Given the description of an element on the screen output the (x, y) to click on. 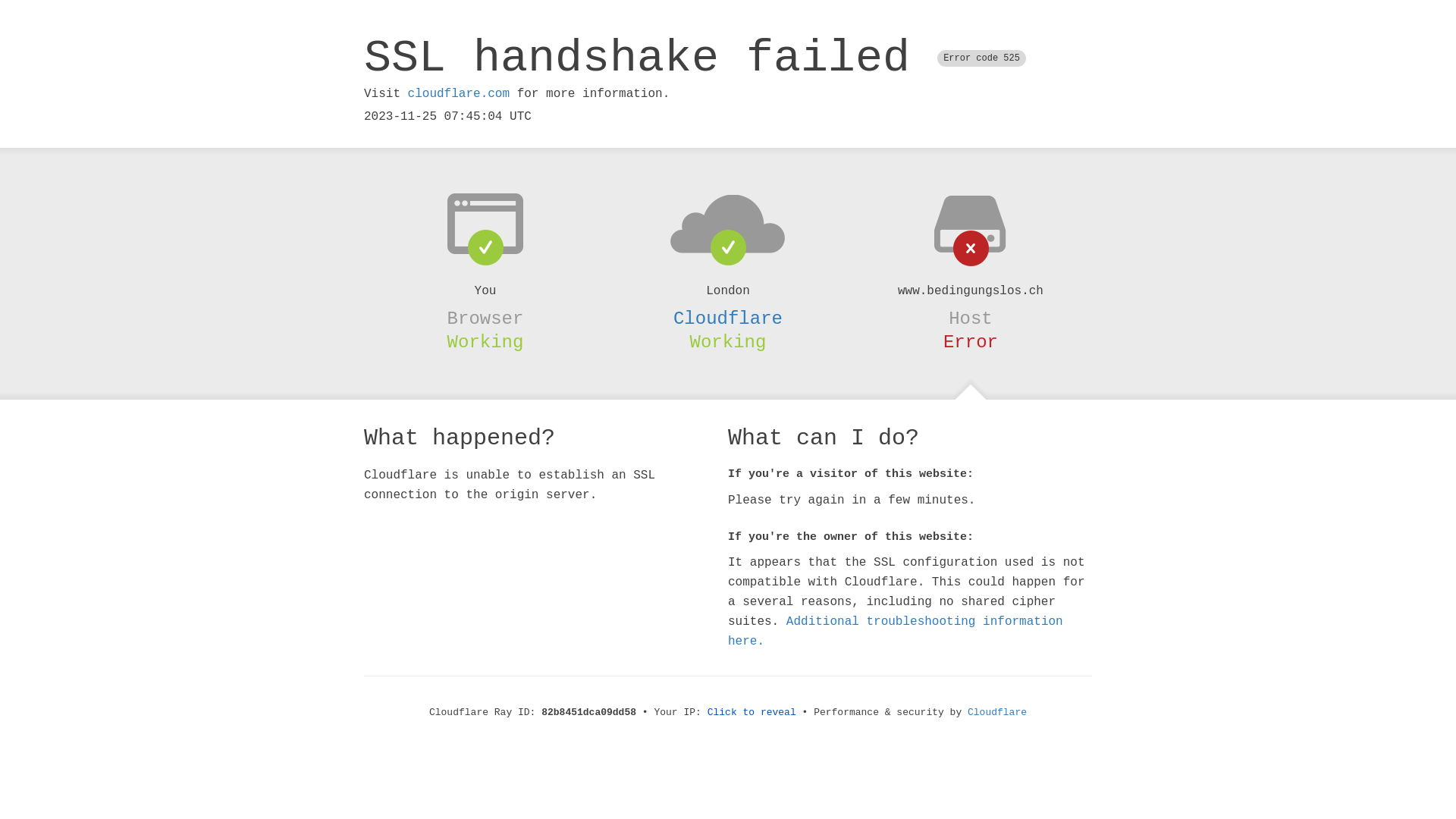
Click to reveal Element type: text (751, 712)
Cloudflare Element type: text (996, 712)
Additional troubleshooting information here. Element type: text (895, 631)
cloudflare.com Element type: text (458, 93)
Cloudflare Element type: text (727, 318)
